Given the description of an element on the screen output the (x, y) to click on. 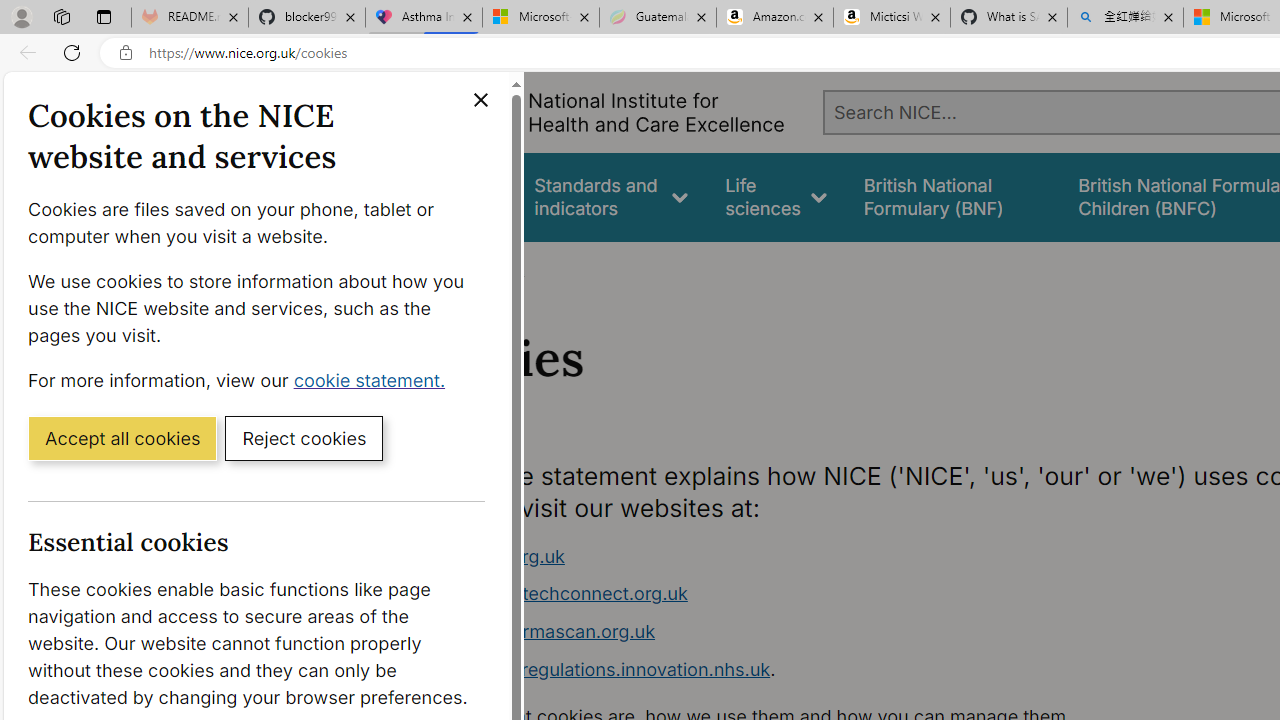
cookie statement. (Opens in a new window) (373, 379)
Home> (433, 268)
Reject cookies (304, 437)
Close cookie banner (480, 99)
www.nice.org.uk (796, 556)
Guidance (458, 196)
www.ukpharmascan.org.uk (796, 632)
